Given the description of an element on the screen output the (x, y) to click on. 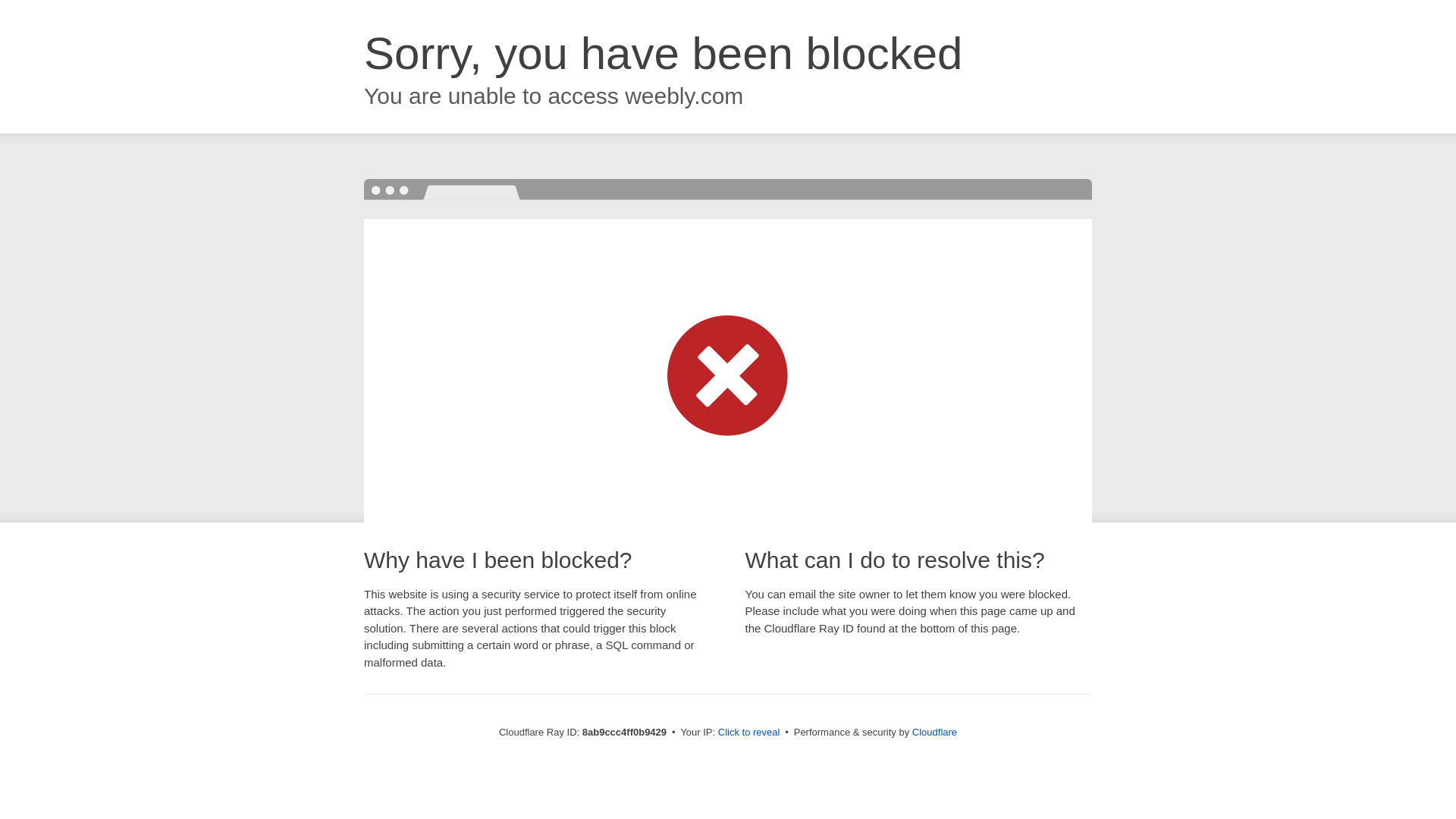
Click to reveal (748, 732)
Cloudflare (934, 731)
